Given the description of an element on the screen output the (x, y) to click on. 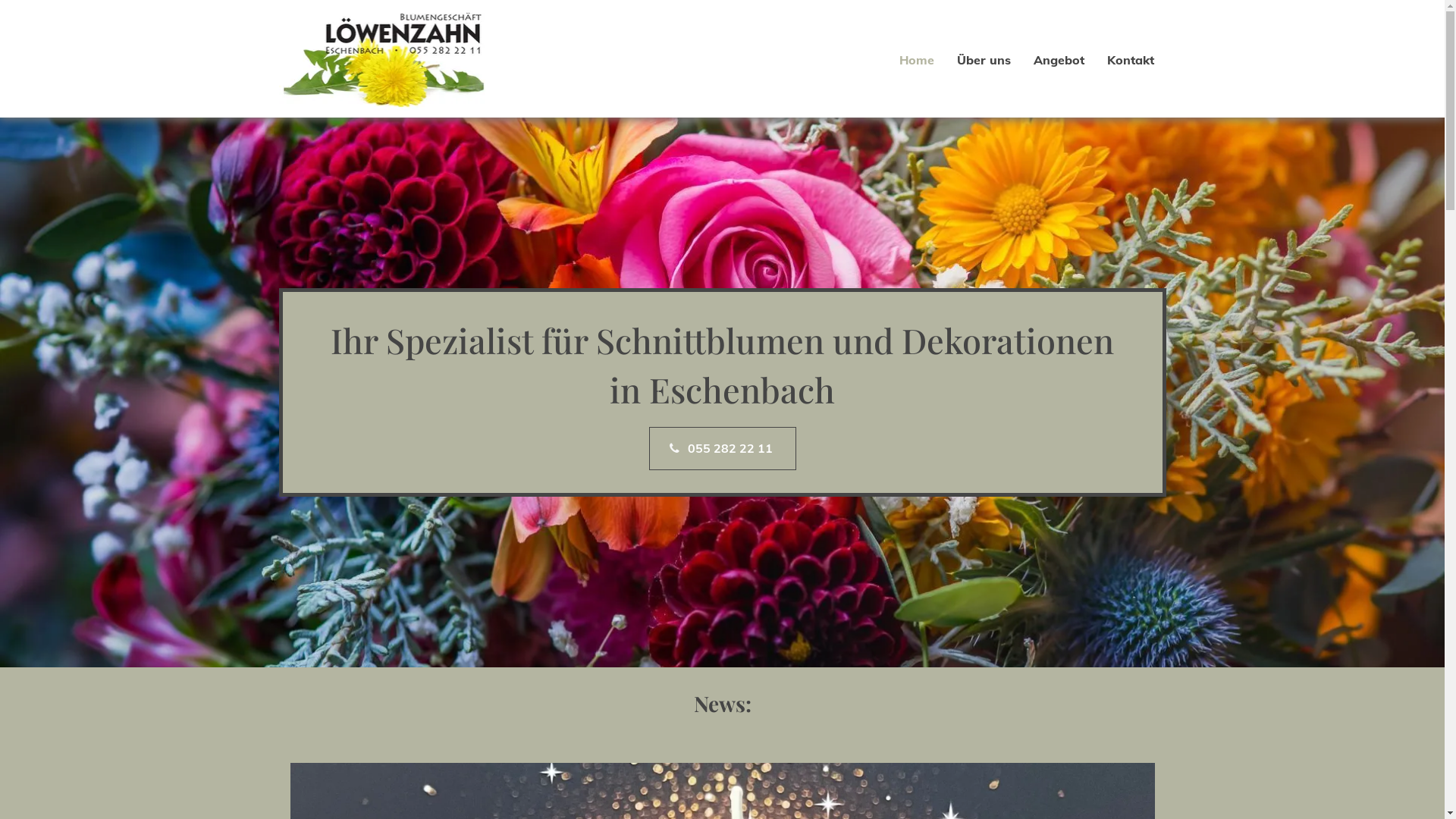
055 282 22 11 Element type: text (722, 447)
Angebot Element type: text (1047, 59)
Home Element type: text (905, 59)
Kontakt Element type: text (1119, 59)
